Given the description of an element on the screen output the (x, y) to click on. 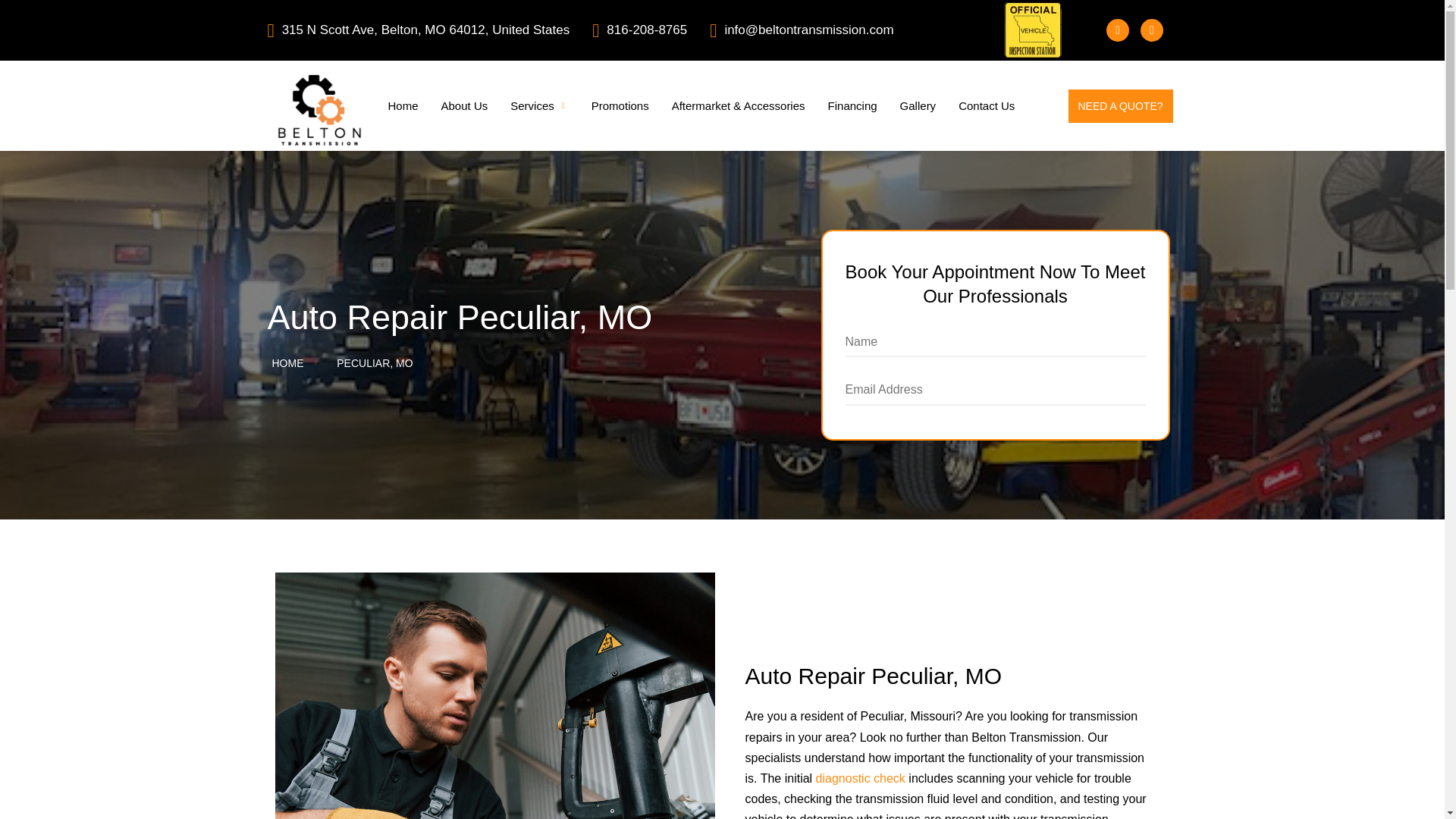
HOME (286, 362)
diagnostic check (860, 778)
816-208-8765 (651, 30)
Auto Repair Peculiar, MO (949, 675)
About Us (539, 362)
315 N Scott Ave, Belton, MO 64012, United States (464, 106)
315 N Scott Ave, Belton, MO 64012, United States (417, 30)
Services (429, 30)
Gallery (539, 106)
NEED A QUOTE? (917, 106)
Promotions (1119, 105)
Contact Us (620, 106)
816-208-8765 (986, 106)
